Given the description of an element on the screen output the (x, y) to click on. 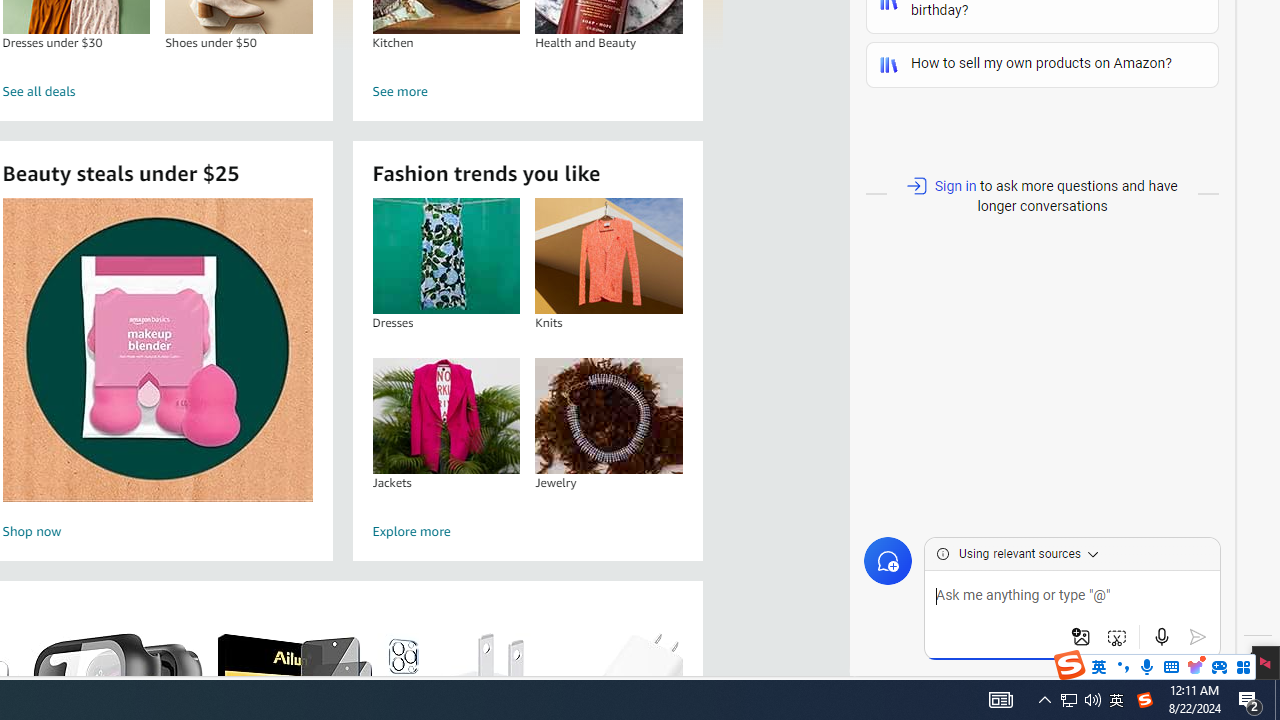
Dresses (445, 256)
Jewelry (608, 415)
Jackets (445, 415)
See all deals (157, 92)
Jackets (445, 415)
Dresses (445, 256)
Jewelry (609, 415)
Knits (609, 256)
Knits (608, 256)
Explore more (527, 532)
